Given the description of an element on the screen output the (x, y) to click on. 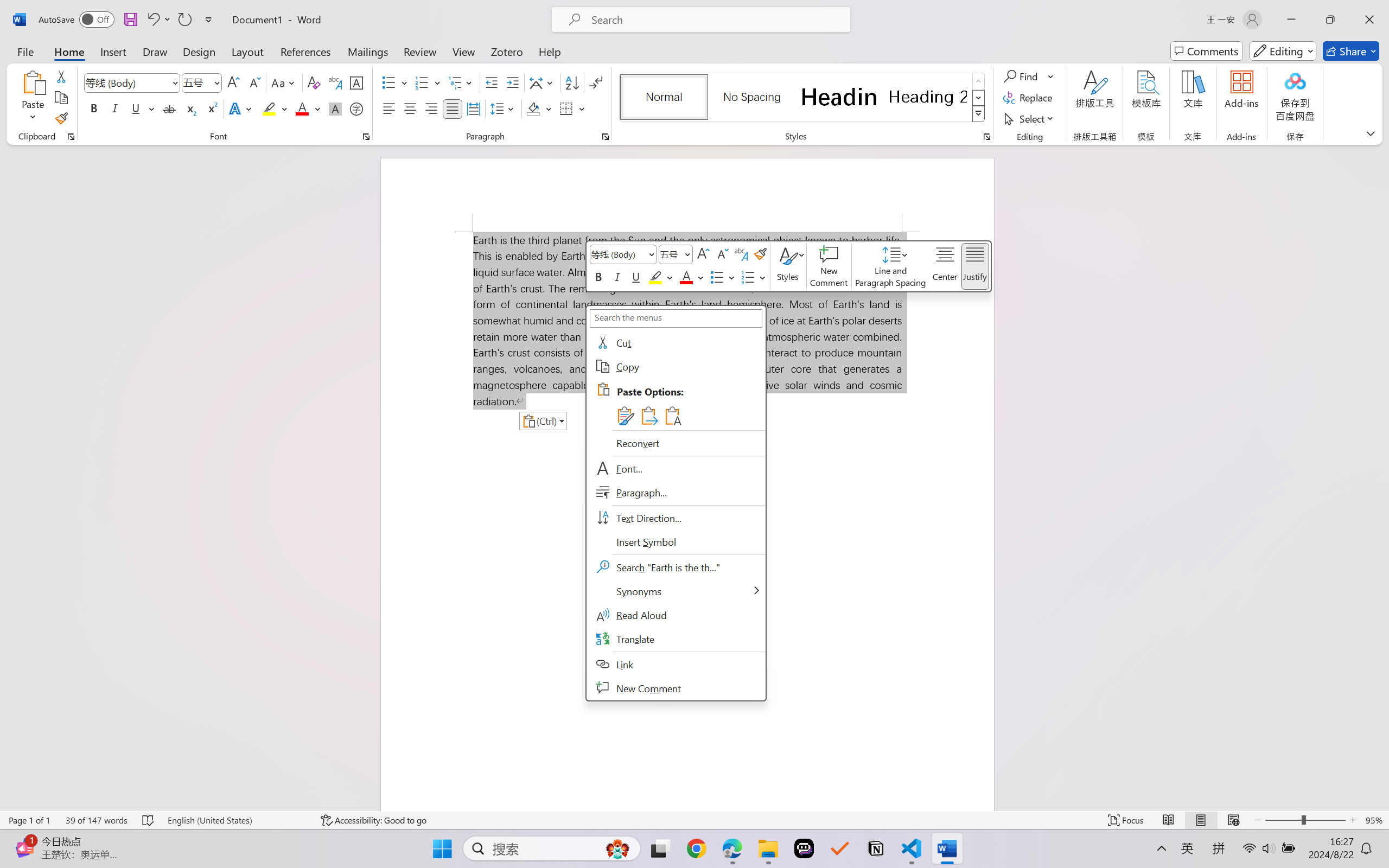
Styles (978, 113)
Italic (115, 108)
Class: NetUIToolWindow (787, 266)
Class: NetUITWMenuContainer (675, 502)
Text Effects and Typography (241, 108)
Context Menu (675, 502)
Enclose Characters... (356, 108)
Copy (675, 366)
